Given the description of an element on the screen output the (x, y) to click on. 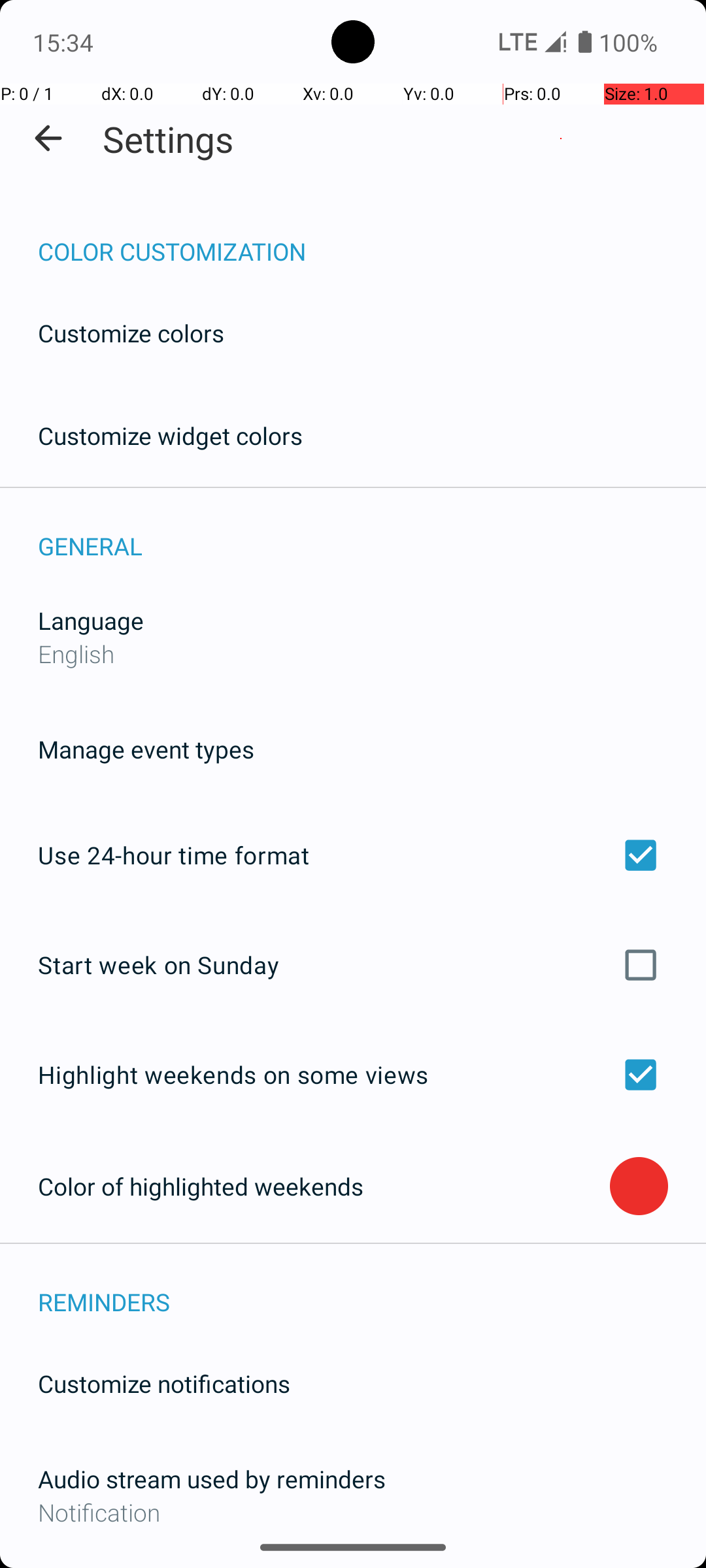
Color of highlighted weekends Element type: android.widget.TextView (323, 1186)
